Given the description of an element on the screen output the (x, y) to click on. 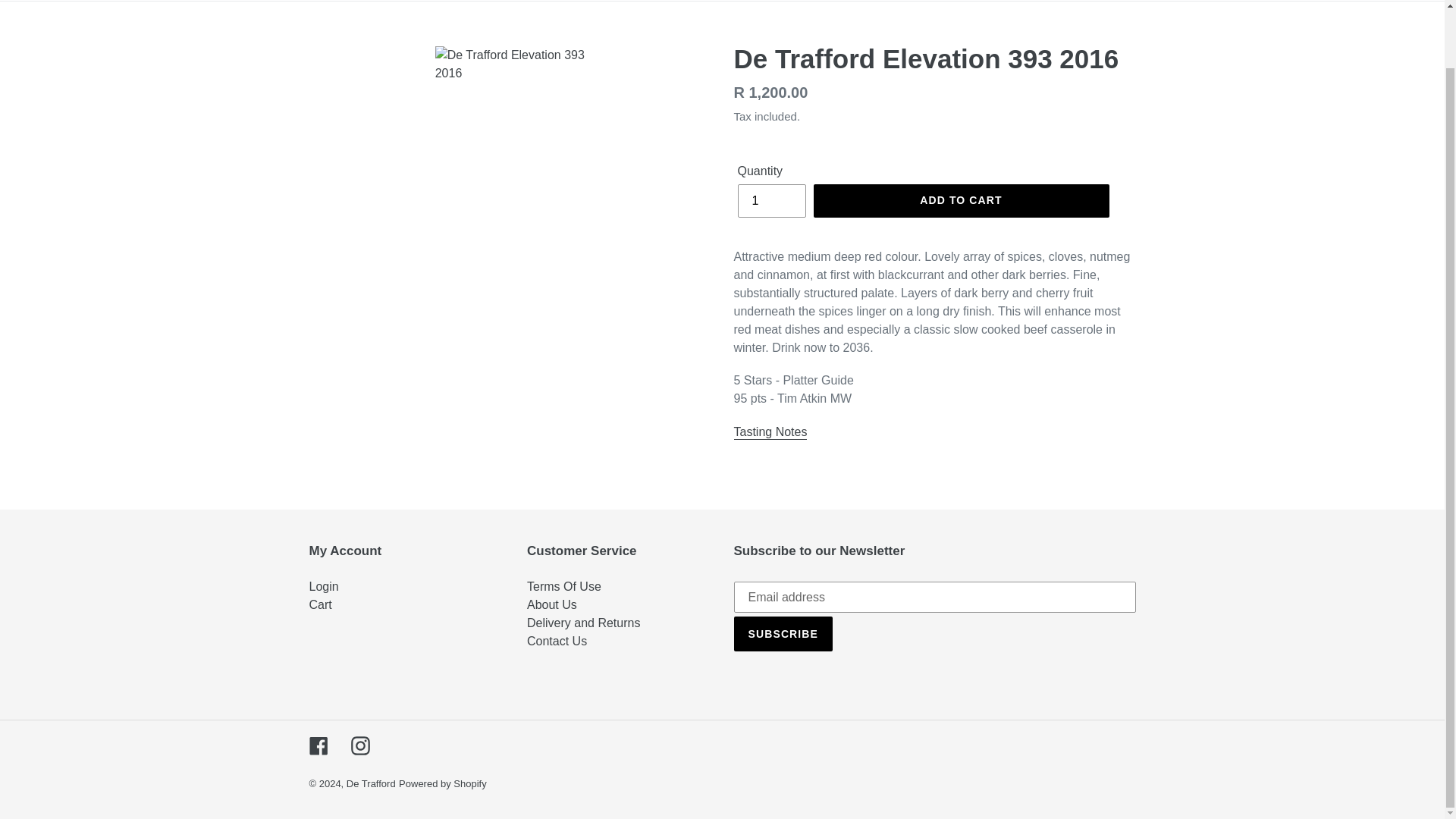
Contact Us (556, 640)
Tasting Notes (770, 432)
ADD TO CART (960, 200)
Instagram (359, 744)
Terms Of Use (564, 585)
1 (770, 200)
SUBSCRIBE (782, 633)
De Trafford (371, 783)
Login (323, 585)
Facebook (318, 744)
About Us (551, 604)
Cart (319, 604)
Powered by Shopify (442, 783)
Delivery and Returns (583, 622)
